Given the description of an element on the screen output the (x, y) to click on. 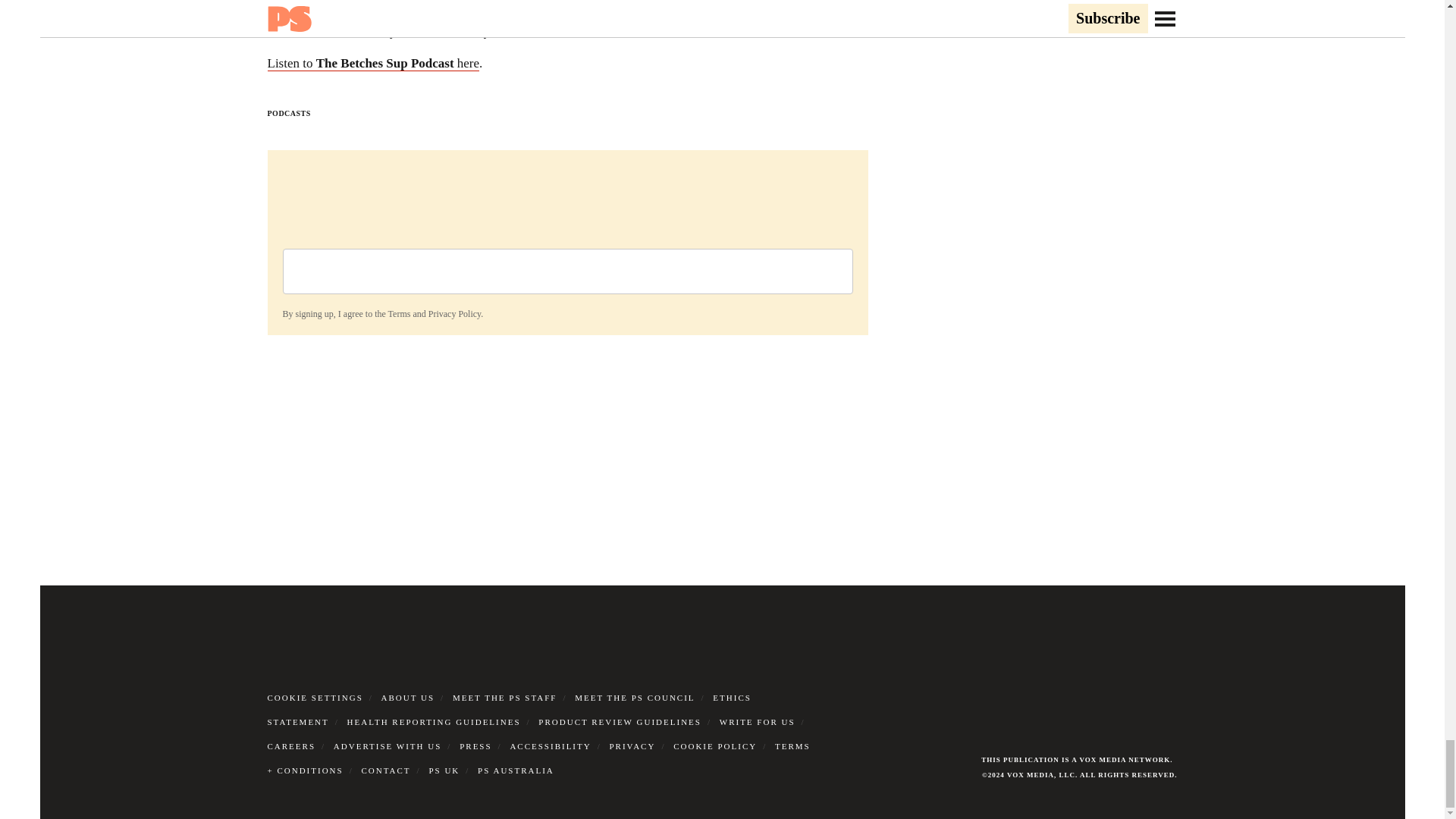
PODCASTS (288, 112)
Terms (399, 313)
Listen to The Betches Sup Podcast here (372, 63)
Privacy Policy. (455, 313)
ABOUT US (408, 697)
Chrissy Teigen's world (651, 10)
